Given the description of an element on the screen output the (x, y) to click on. 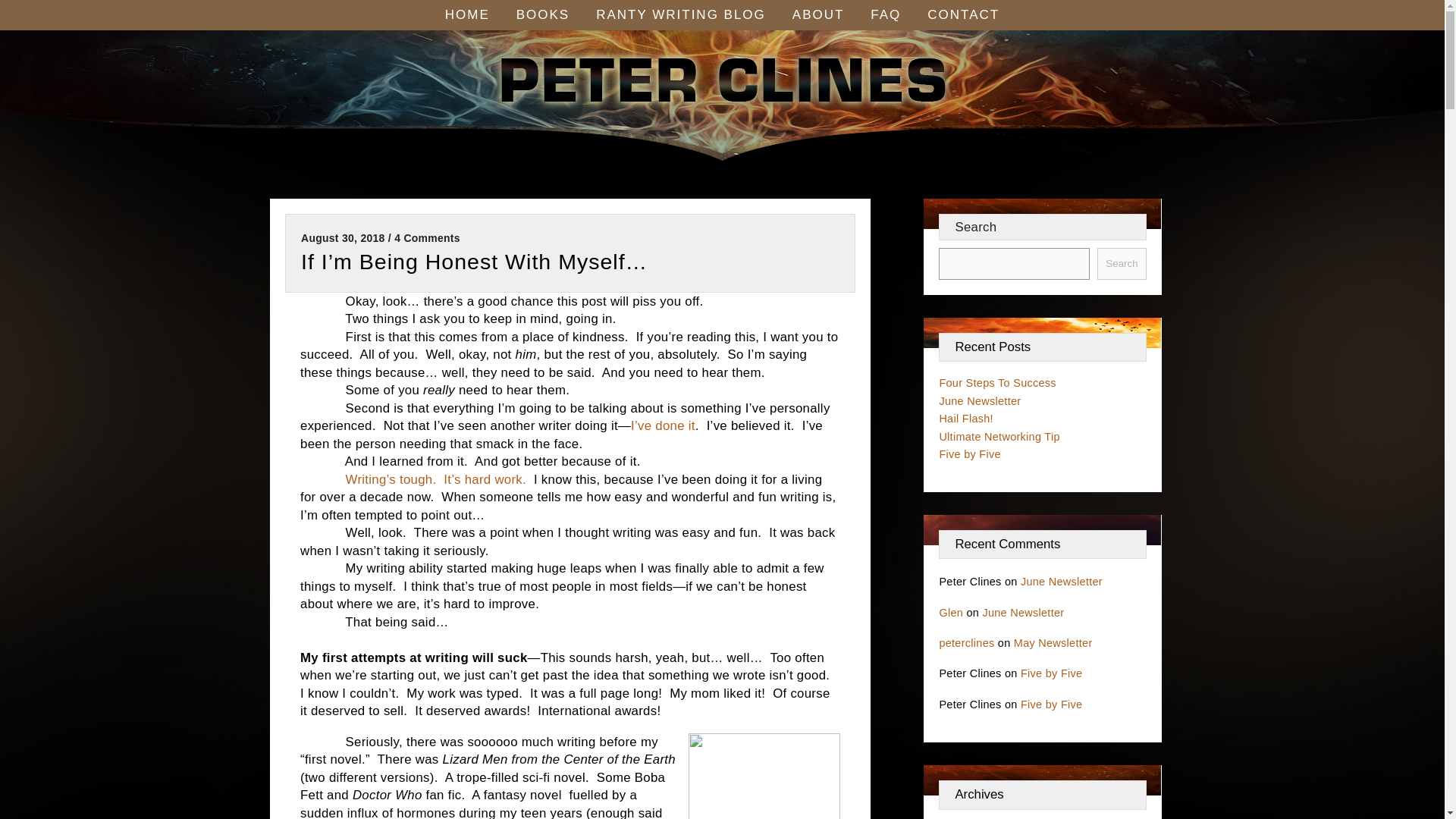
ABOUT (818, 15)
BOOKS (542, 15)
FAQ (884, 15)
CONTACT (962, 15)
HOME (467, 15)
RANTY WRITING BLOG (681, 15)
